Given the description of an element on the screen output the (x, y) to click on. 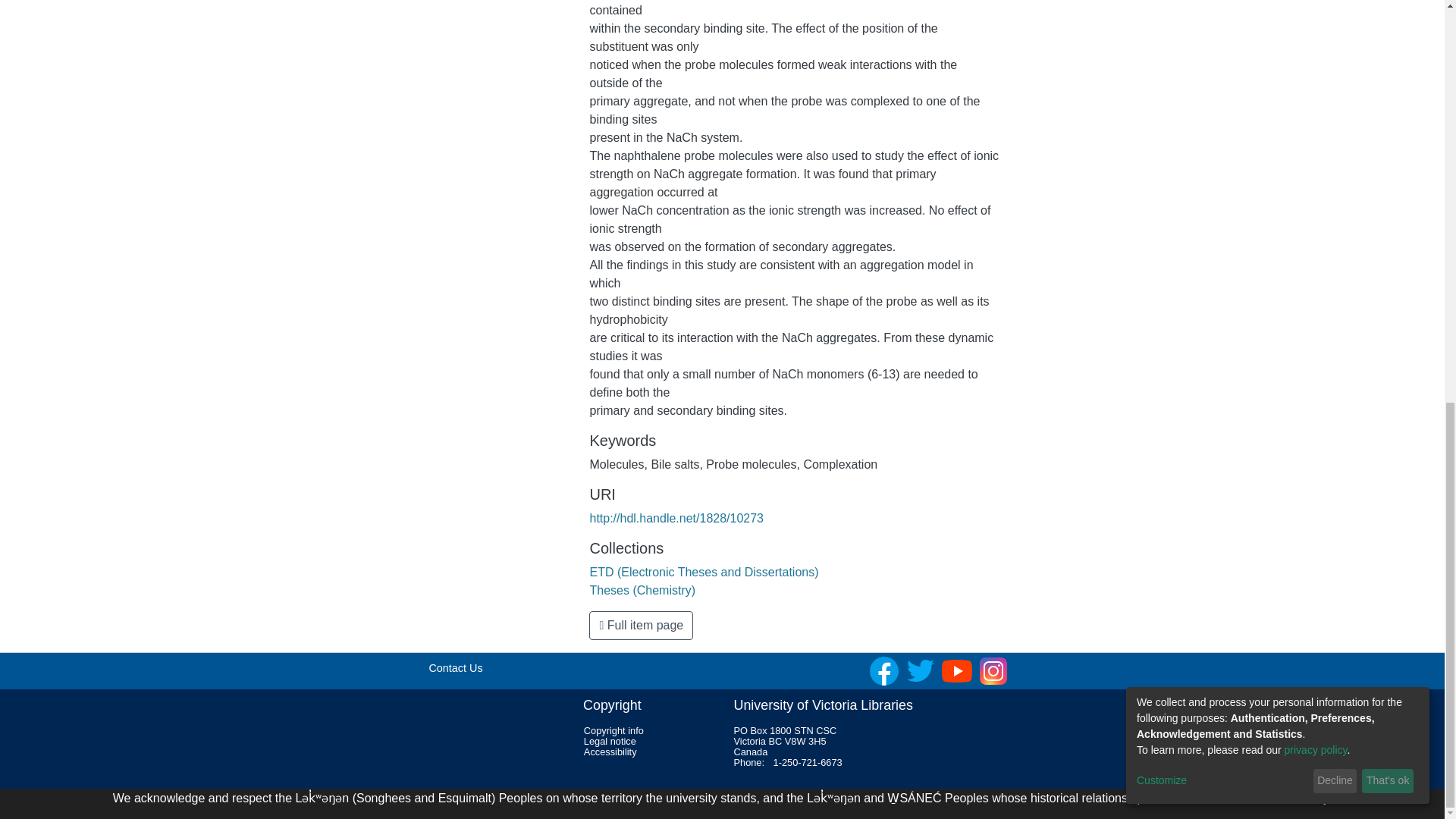
Contact Us (454, 667)
Full item page (641, 624)
